Given the description of an element on the screen output the (x, y) to click on. 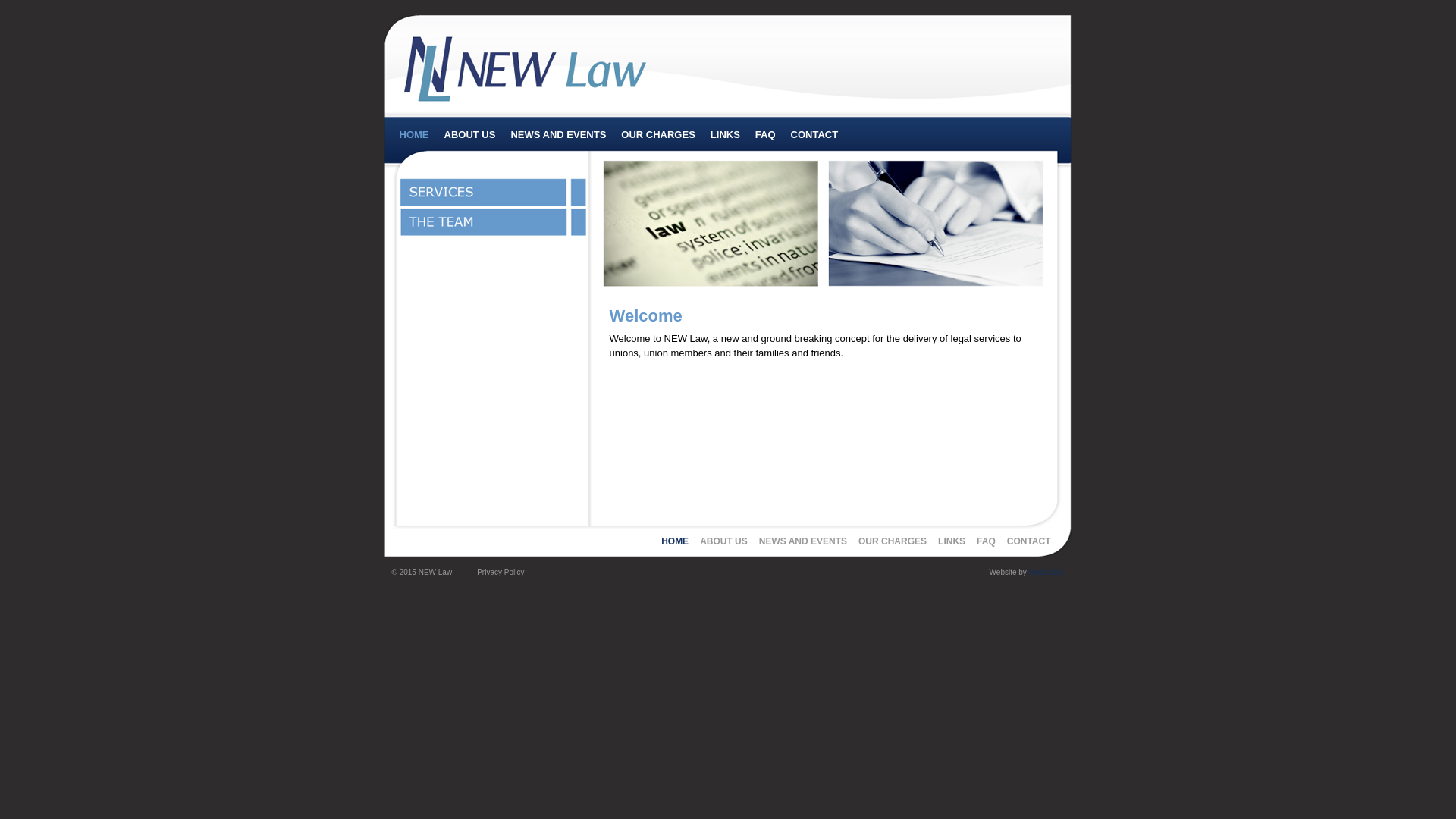
ABOUT US Element type: text (723, 541)
CONTACT Element type: text (1029, 541)
OUR CHARGES Element type: text (658, 134)
LINKS Element type: text (951, 541)
FAQ Element type: text (765, 134)
OUR CHARGES Element type: text (892, 541)
ABOUT US Element type: text (469, 134)
NEWS AND EVENTS Element type: text (803, 541)
HOME Element type: text (413, 134)
Privacy Policy Element type: text (500, 571)
FAQ Element type: text (985, 541)
CONTACT Element type: text (814, 134)
LINKS Element type: text (725, 134)
Magicdust Element type: text (1046, 571)
NEWS AND EVENTS Element type: text (557, 134)
HOME Element type: text (674, 541)
